Given the description of an element on the screen output the (x, y) to click on. 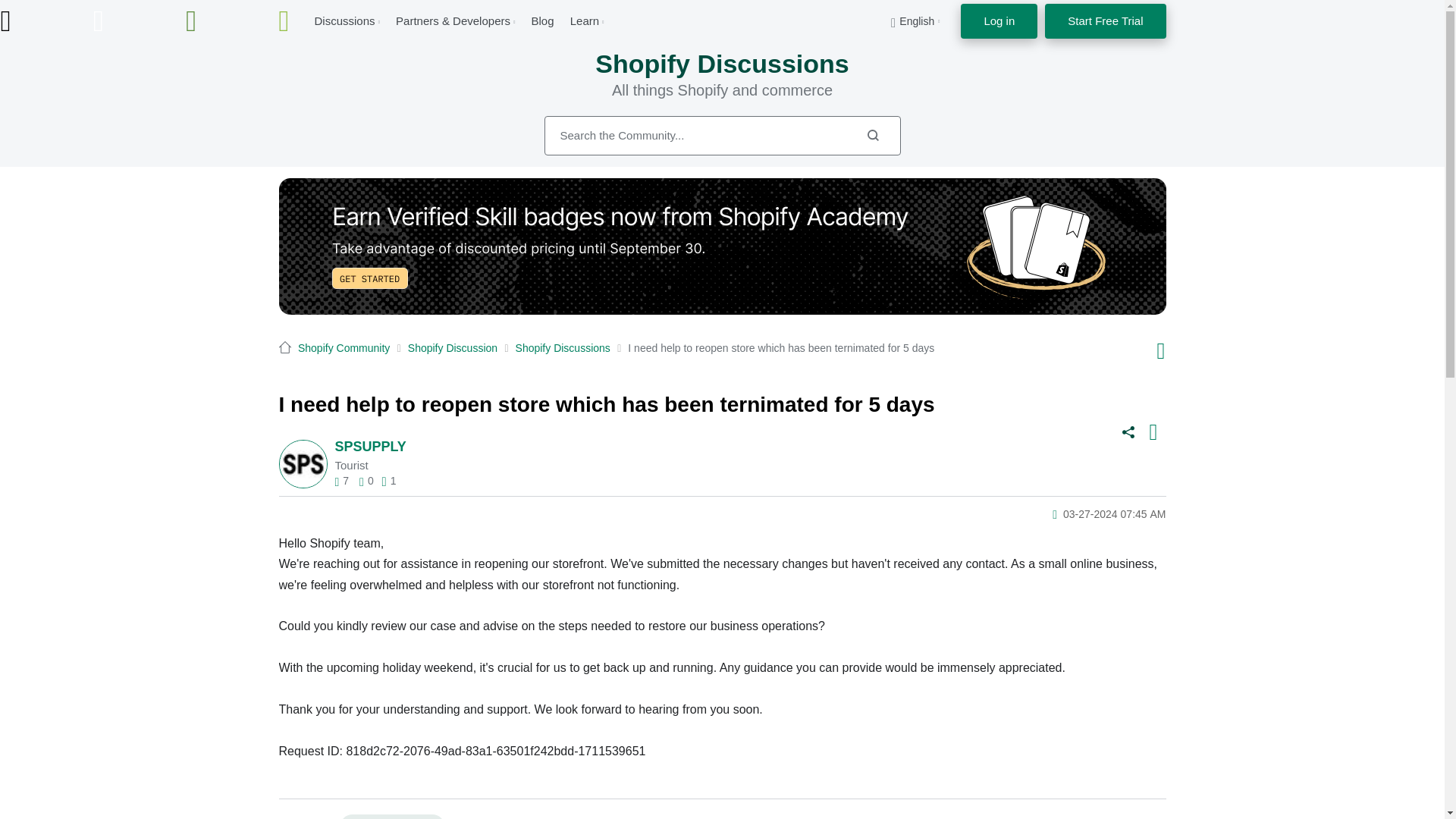
Search (872, 135)
Search (722, 135)
Search (872, 135)
Discussions (344, 20)
